Given the description of an element on the screen output the (x, y) to click on. 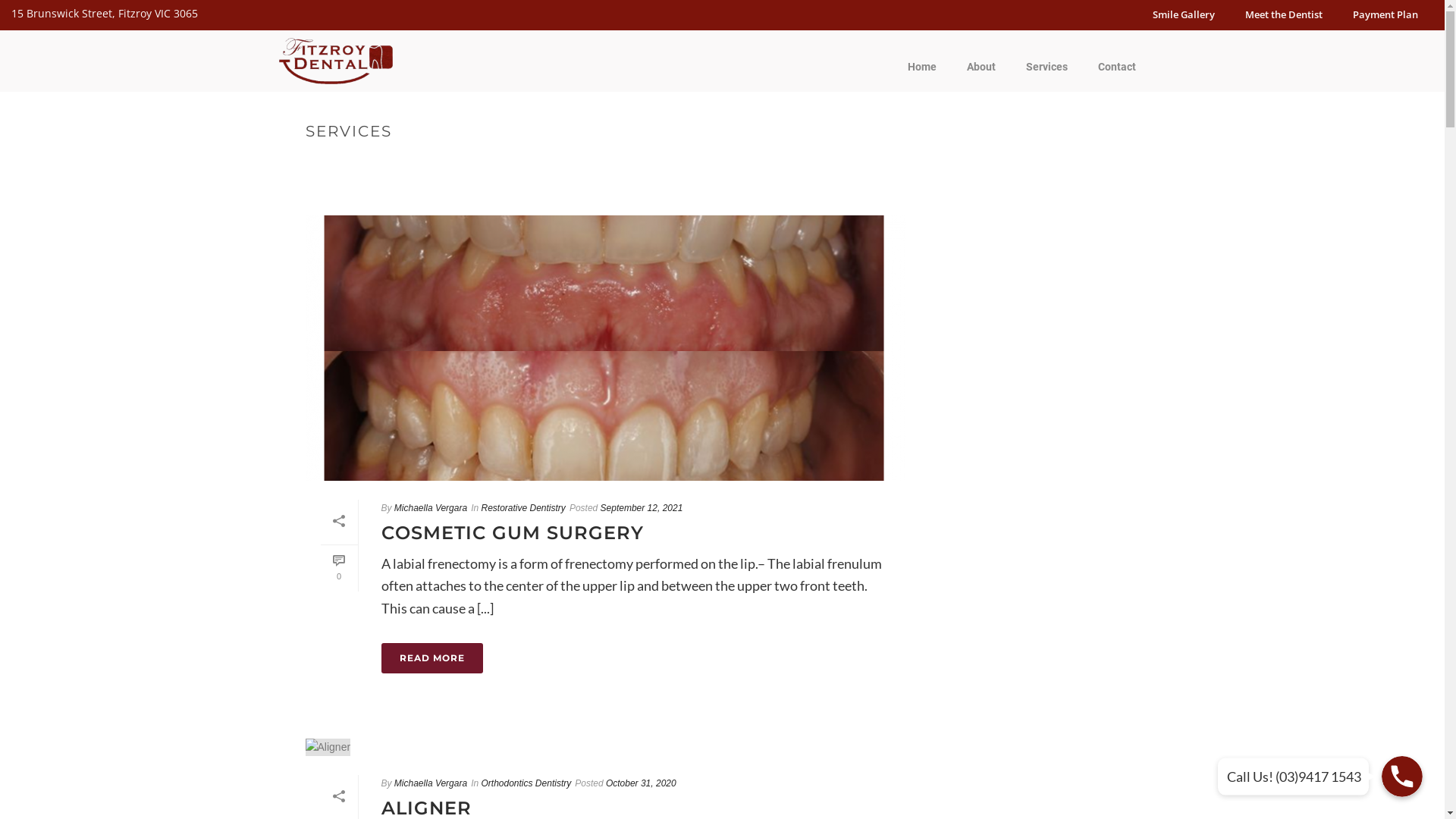
Cosmetic Gum Surgery Element type: hover (604, 347)
Aligner Element type: hover (327, 747)
HOME Element type: text (936, 163)
Restorative Dentistry Element type: text (522, 507)
About Element type: text (980, 67)
Services Element type: text (1046, 67)
Michaella Vergara Element type: text (430, 507)
READ MORE Element type: text (431, 658)
  Element type: text (604, 746)
Michaella Vergara Element type: text (430, 783)
15 Brunswick Street, Fitzroy VIC 3065 Element type: text (104, 13)
SERVICES Element type: text (982, 163)
Orthodontics Dentistry Element type: text (525, 783)
RESTORATIVE DENTISTRY Element type: text (1071, 163)
Contact Element type: text (1116, 67)
Aligner Element type: hover (604, 746)
  Element type: text (604, 347)
Payment Plan Element type: text (1385, 15)
Smile Gallery Element type: text (1183, 15)
September 12, 2021 Element type: text (641, 507)
0 Element type: text (338, 568)
Meet the Dentist Element type: text (1283, 15)
COSMETIC GUM SURGERY Element type: text (511, 532)
Home Element type: text (920, 67)
October 31, 2020 Element type: text (640, 783)
